Given the description of an element on the screen output the (x, y) to click on. 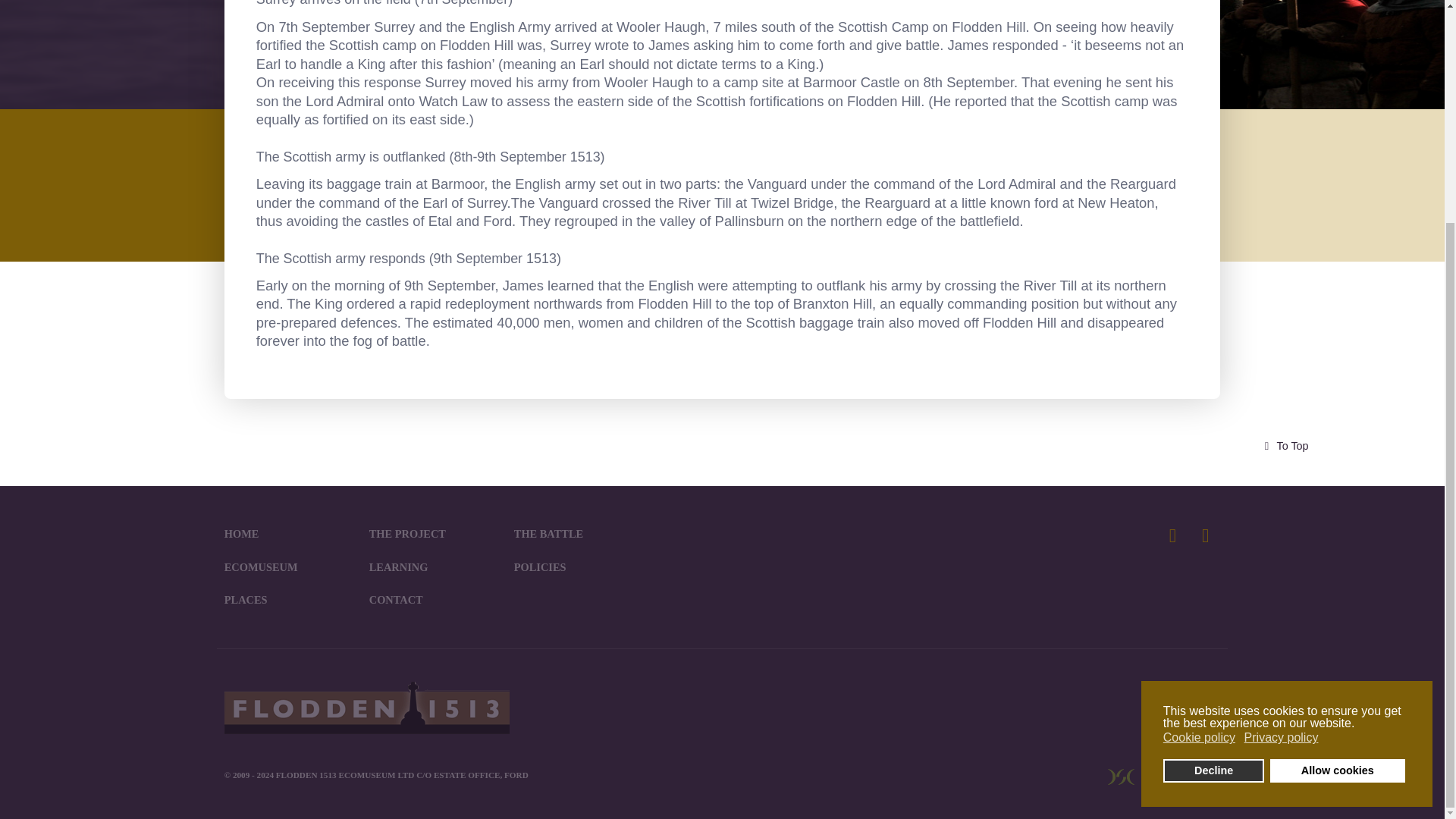
The Battle (548, 533)
HOME (241, 533)
Allow cookies (1337, 474)
The Project (407, 533)
Decline (1214, 474)
Contact (396, 599)
Ecomuseum (261, 567)
Cookie policy (1200, 442)
Privacy policy (1282, 442)
To Top (1283, 445)
ECOMUSEUM (261, 567)
Places (245, 599)
PLACES (245, 599)
Home (241, 533)
Learning (398, 567)
